Given the description of an element on the screen output the (x, y) to click on. 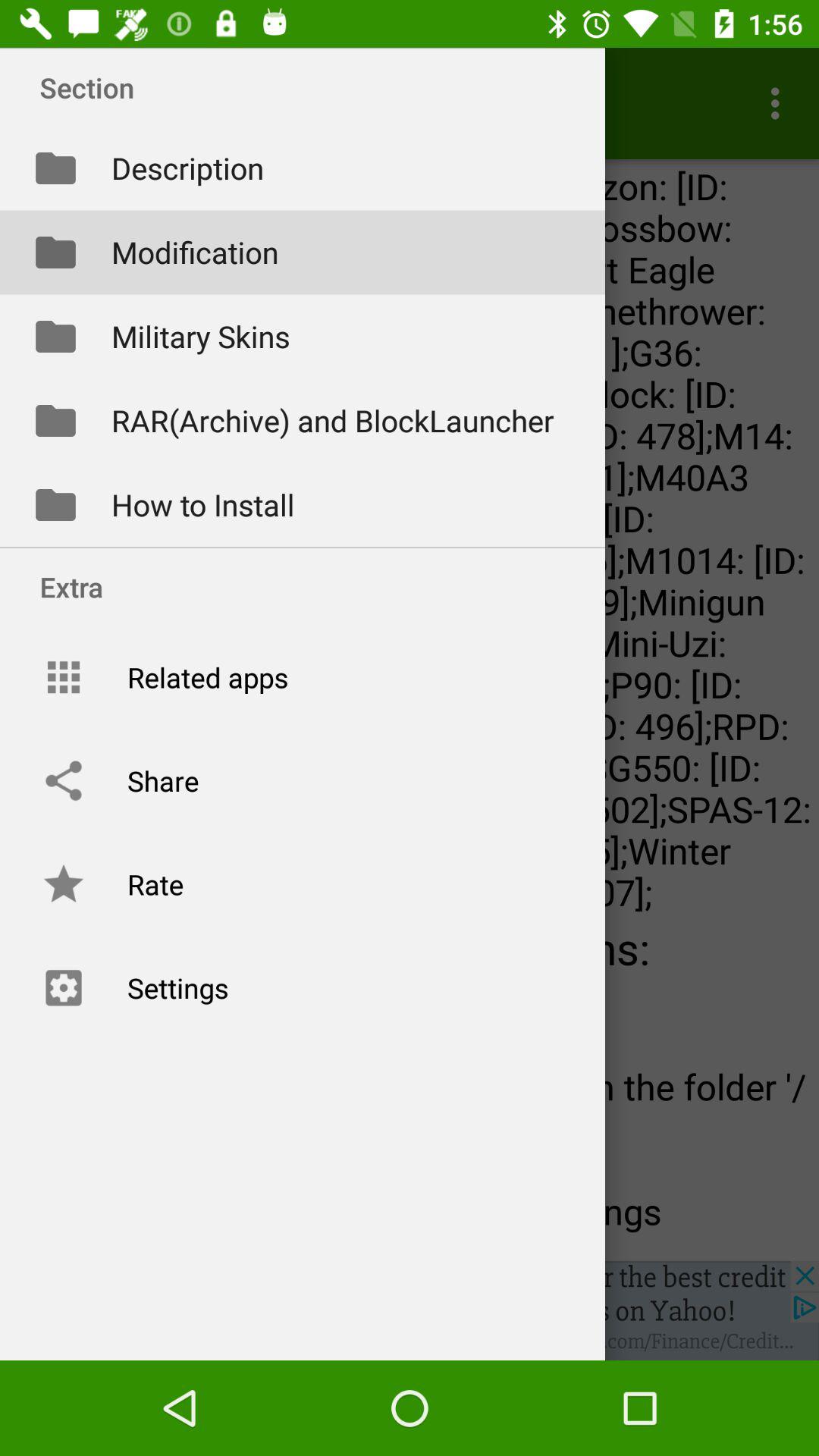
select share option which is above rate on the page (302, 780)
select description which is below section on the page (302, 168)
select the modification option (302, 252)
click on the extra option (306, 586)
select the title of the page (306, 87)
